Given the description of an element on the screen output the (x, y) to click on. 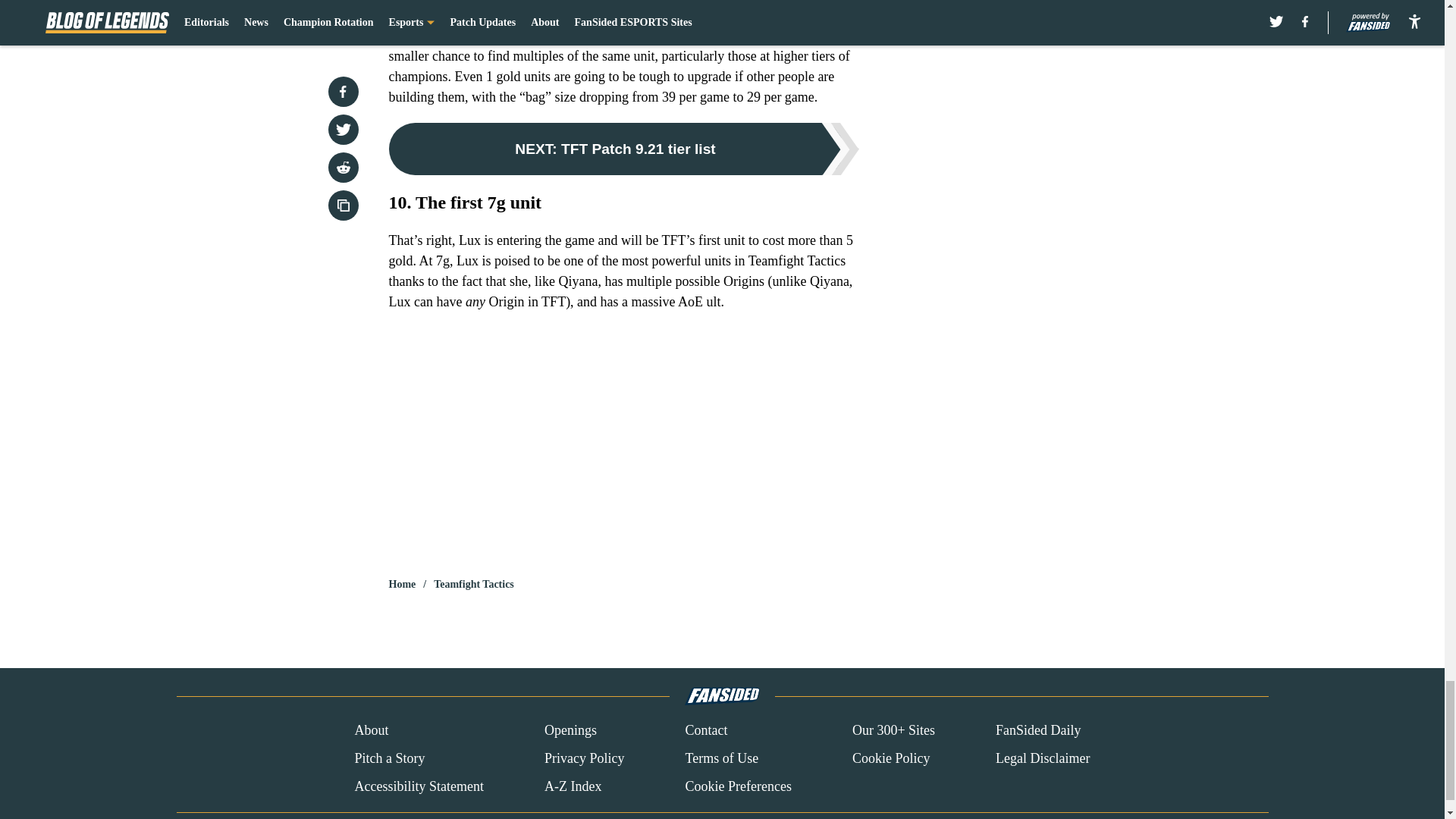
About (370, 730)
Contact (705, 730)
Teamfight Tactics (473, 584)
Home (401, 584)
NEXT: TFT Patch 9.21 tier list (623, 148)
FanSided Daily (1038, 730)
Privacy Policy (584, 758)
Openings (570, 730)
Pitch a Story (389, 758)
